Given the description of an element on the screen output the (x, y) to click on. 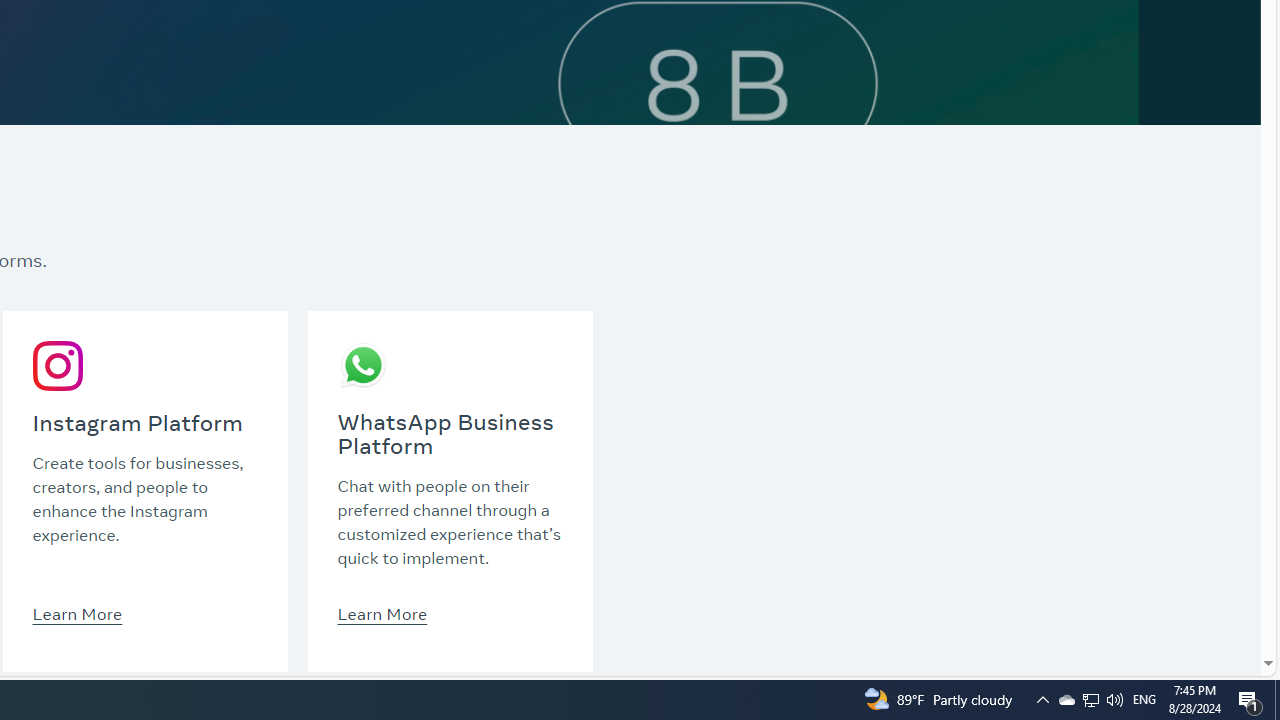
Learn More (381, 613)
